Given the description of an element on the screen output the (x, y) to click on. 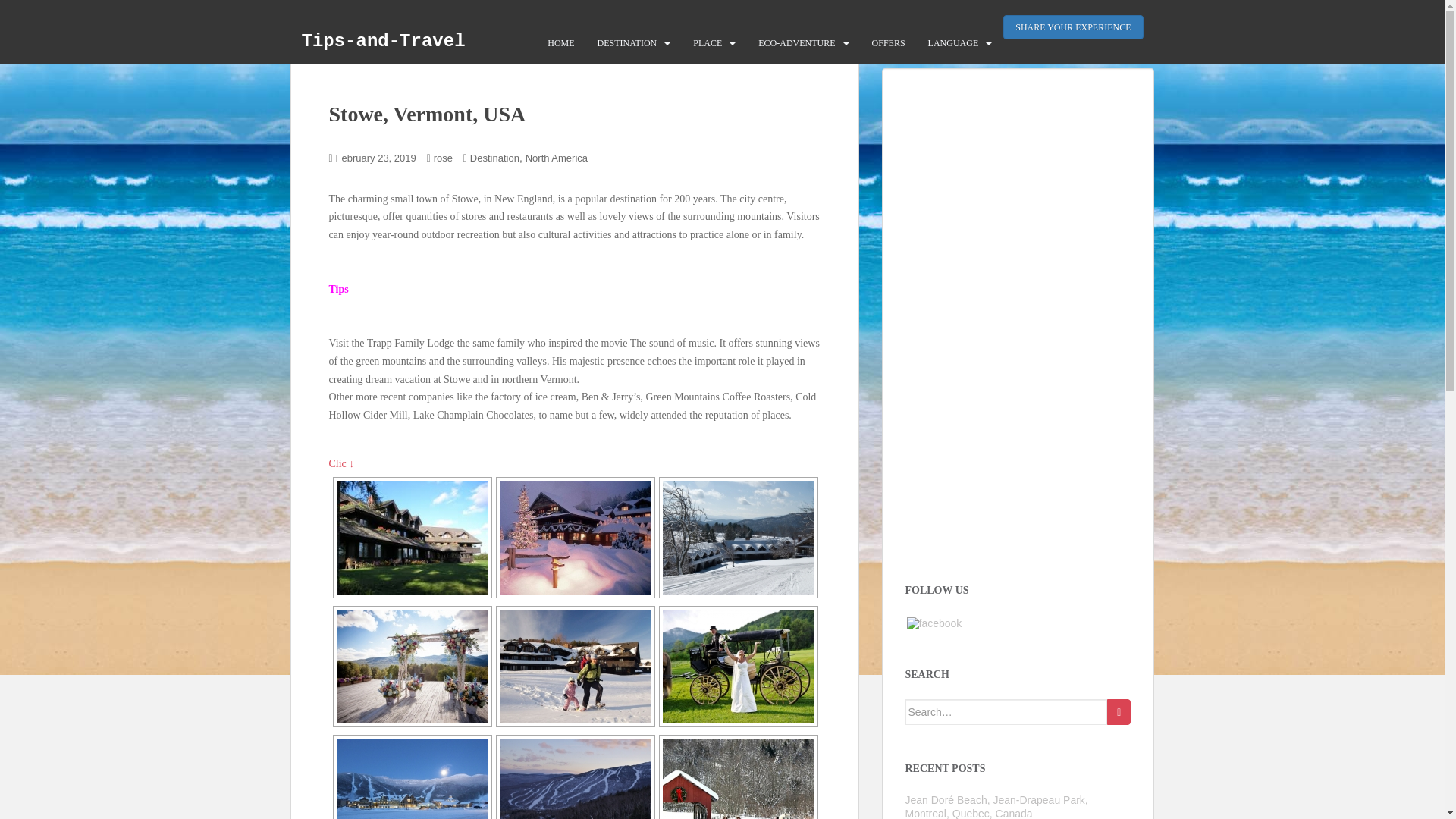
Tips-and-Travel (382, 41)
February 23, 2019 (376, 157)
SHARE YOUR EXPERIENCE (1073, 26)
LANGUAGE (953, 43)
Destination (494, 157)
DESTINATION (627, 43)
rose (442, 157)
ECO-ADVENTURE (796, 43)
OFFERS (888, 43)
HOME (560, 43)
